Given the description of an element on the screen output the (x, y) to click on. 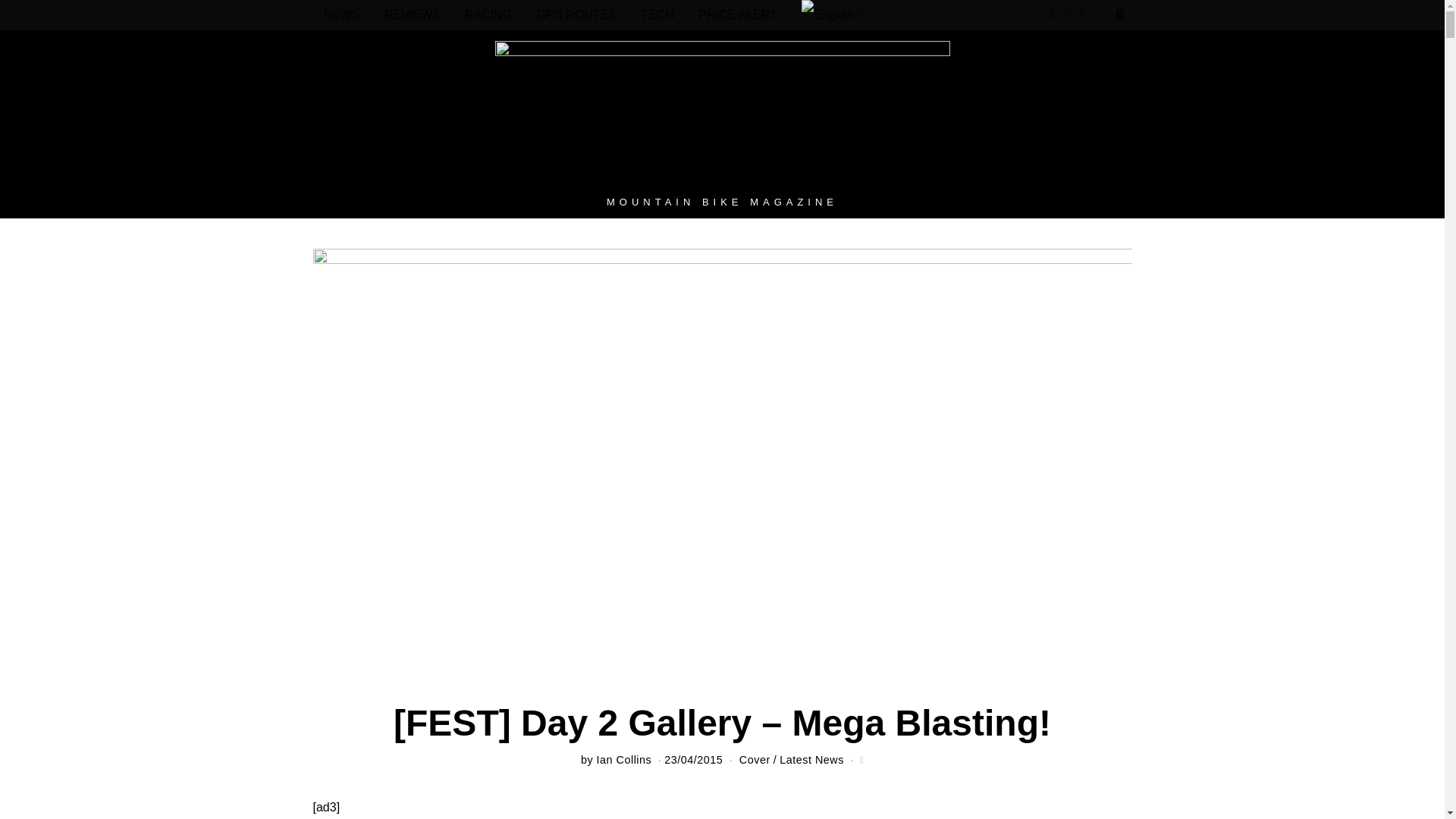
Ian Collins (624, 759)
GPS ROUTES (576, 15)
Cover (754, 759)
TECH (657, 15)
RACING (488, 15)
PRICE ALERT (737, 15)
NEWS (341, 15)
Latest News (811, 759)
REVIEWS (412, 15)
